Given the description of an element on the screen output the (x, y) to click on. 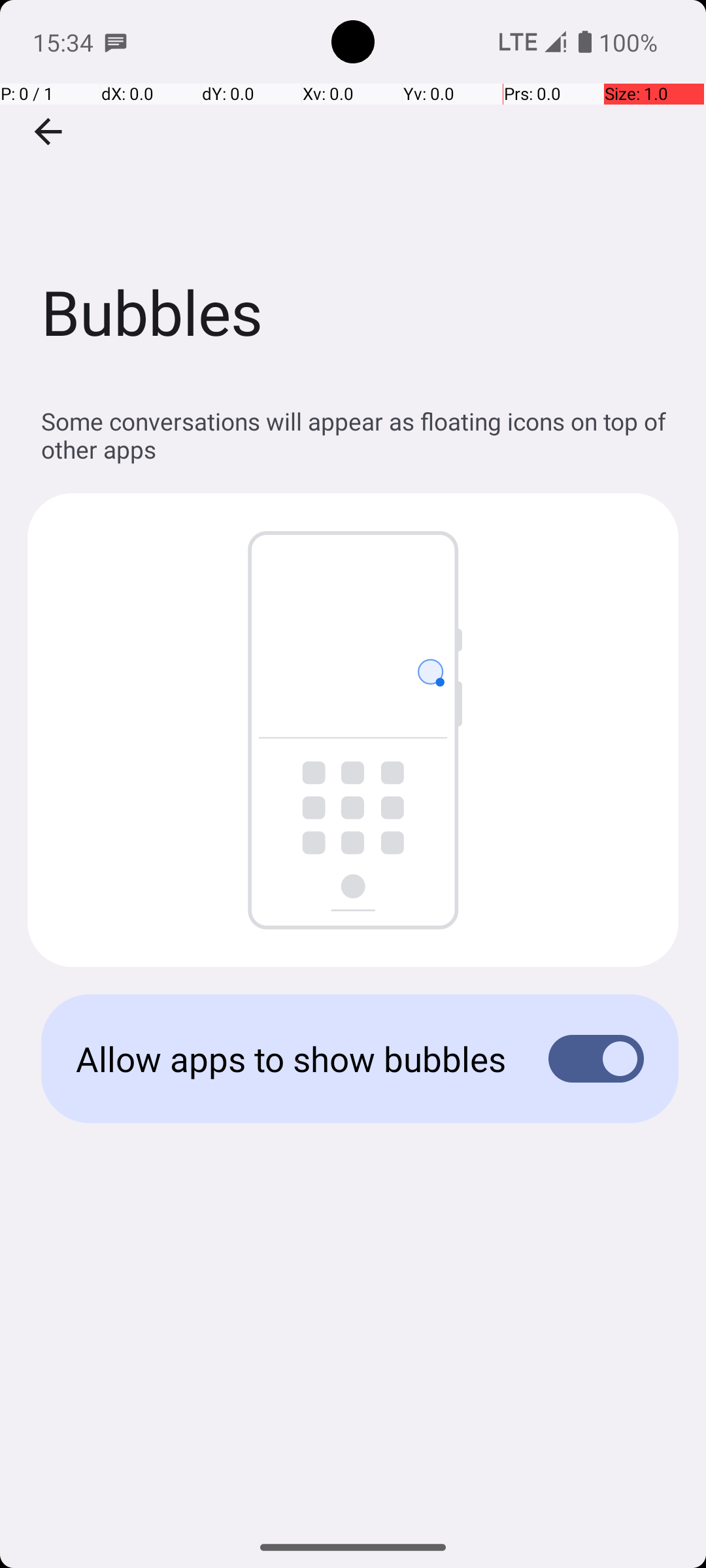
Some conversations will appear as floating icons on top of other apps Element type: android.widget.TextView (359, 434)
Allow apps to show bubbles Element type: android.widget.TextView (291, 1058)
